Given the description of an element on the screen output the (x, y) to click on. 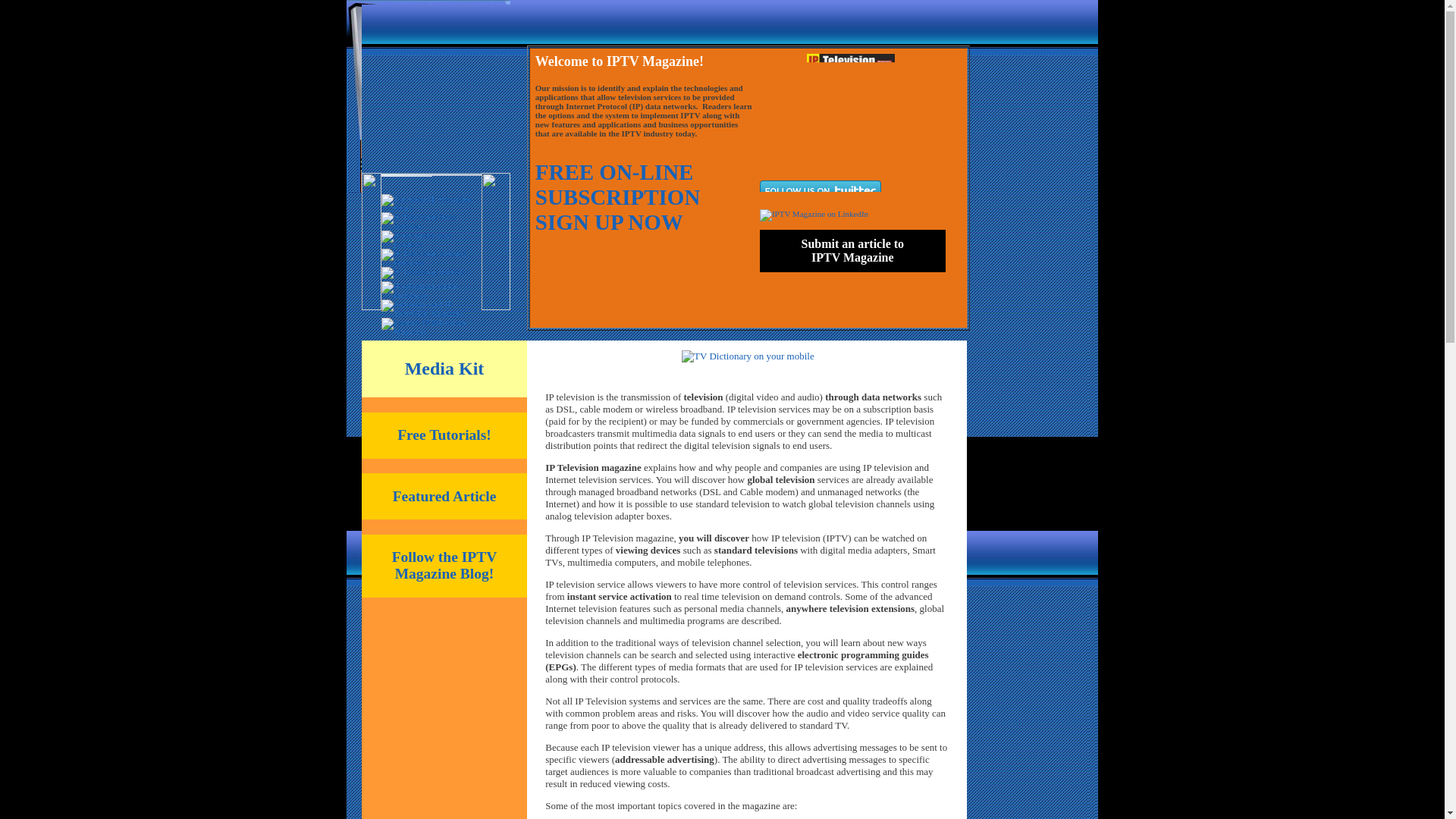
Free Tutorials! (444, 434)
SUBSCRIPTION (617, 197)
Media Kit (444, 368)
Featured Article (444, 496)
Follow the IPTV Magazine Blog! (853, 249)
FREE ON-LINE (444, 564)
SIGN UP NOW (614, 171)
